Given the description of an element on the screen output the (x, y) to click on. 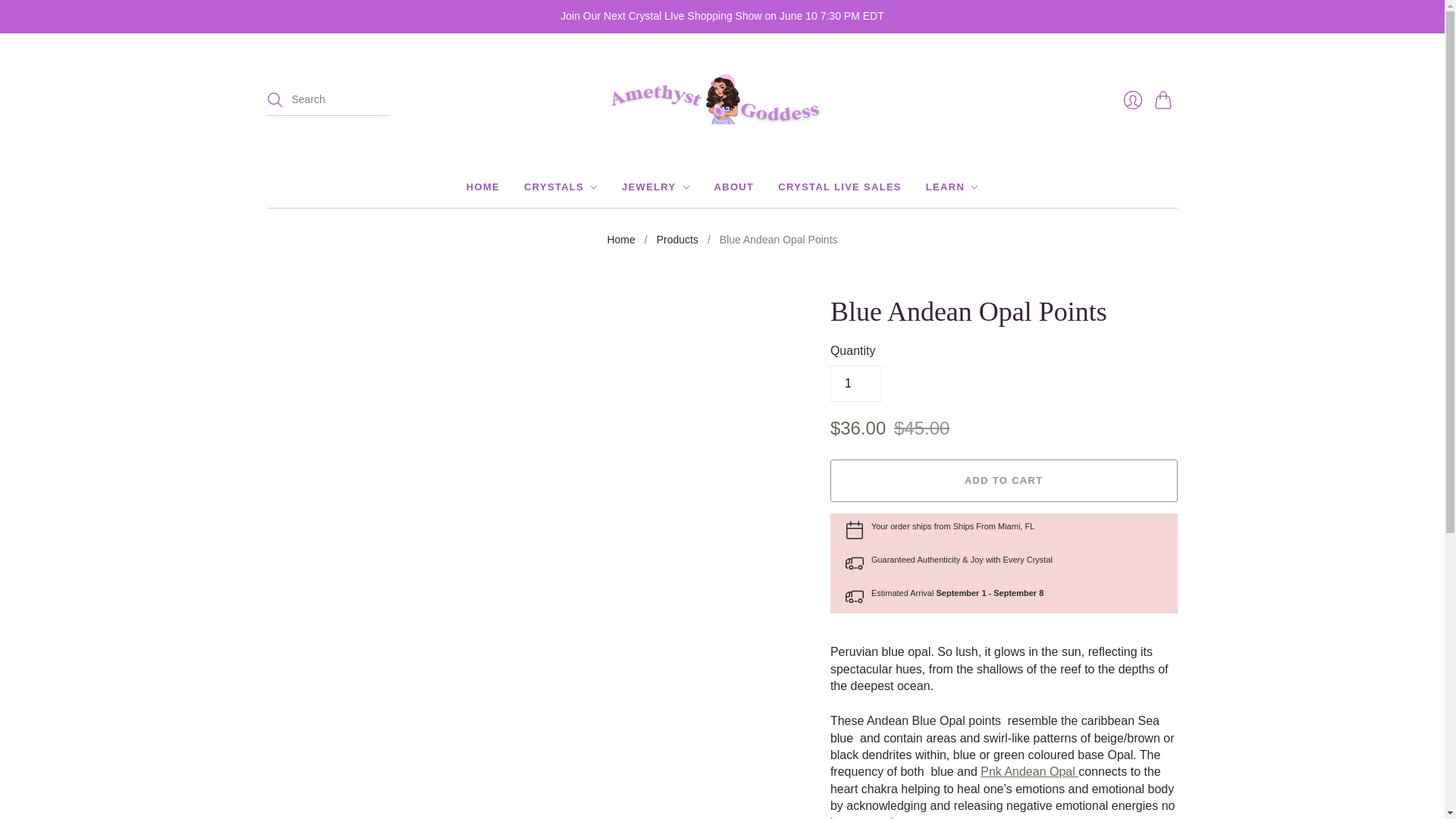
ABOUT (734, 186)
CRYSTAL LIVE SALES (839, 186)
HOME (482, 186)
Login (1132, 100)
Cart (1165, 100)
1 (855, 383)
Andean Pink Opal Points (1028, 771)
